Given the description of an element on the screen output the (x, y) to click on. 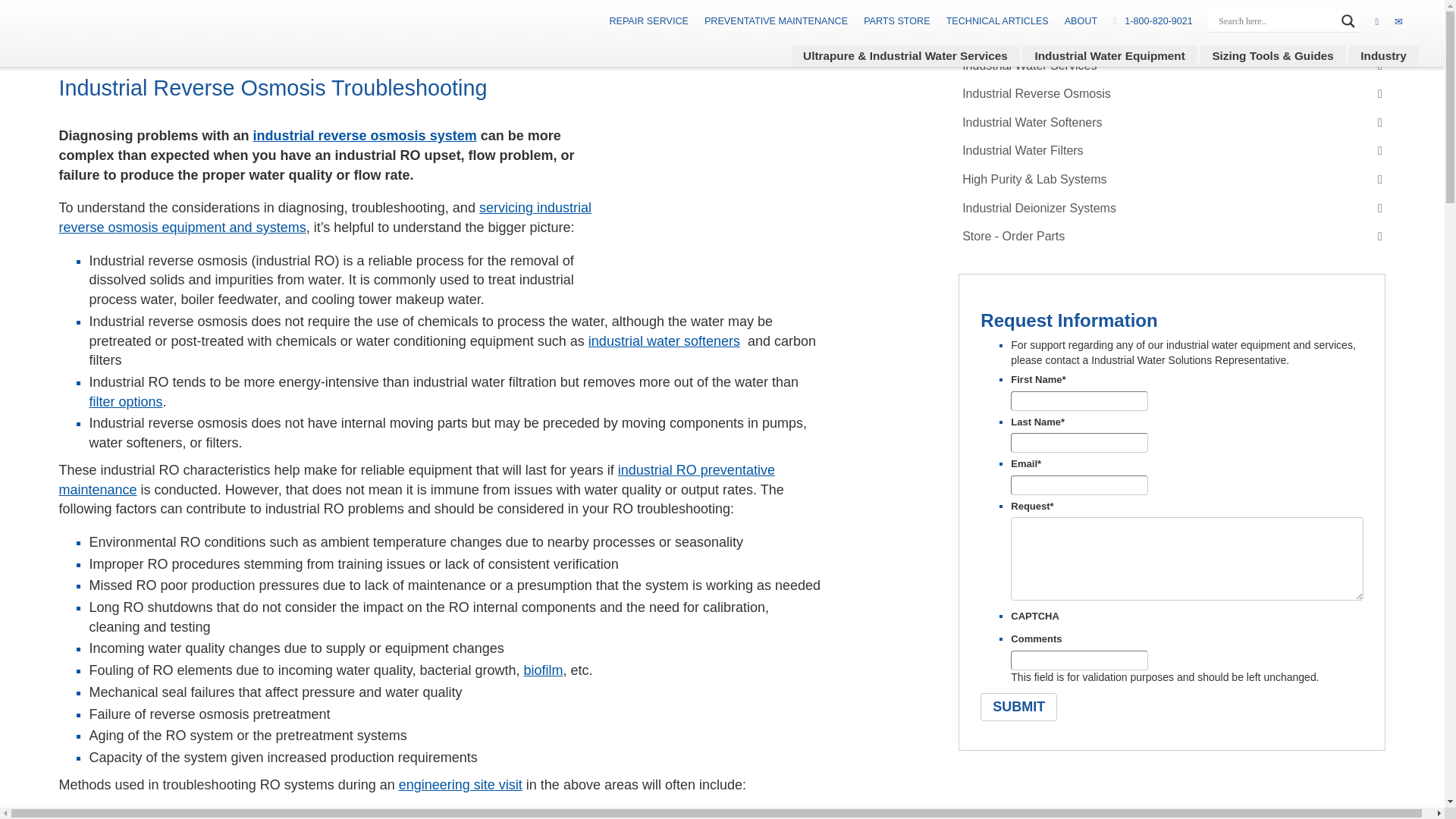
1-800-820-9021 (1158, 20)
ABOUT (1080, 20)
Submit (1018, 706)
PARTS STORE (896, 20)
REPAIR SERVICE (648, 20)
TECHNICAL ARTICLES (997, 20)
PREVENTATIVE MAINTENANCE (775, 20)
